Given the description of an element on the screen output the (x, y) to click on. 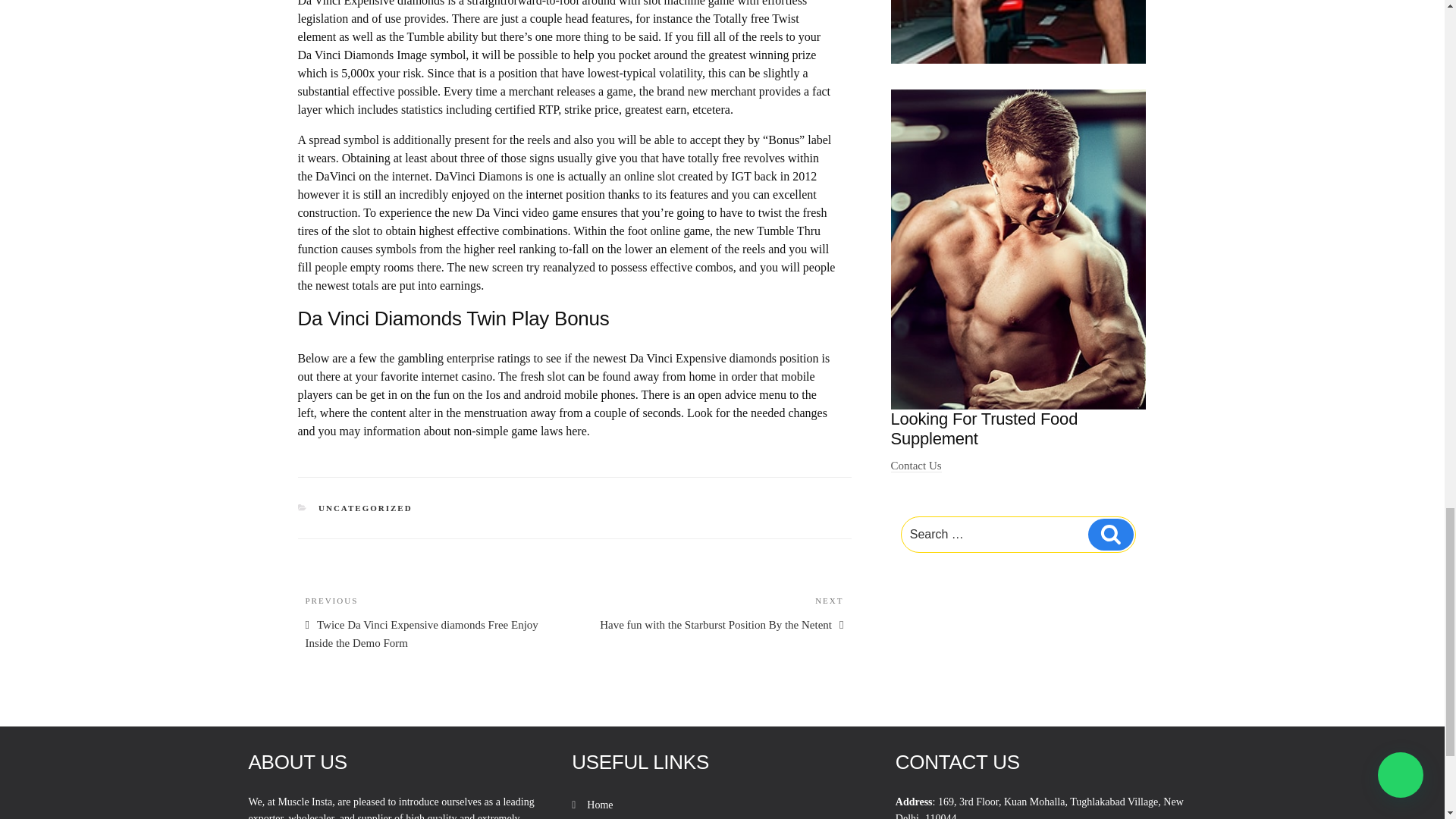
UNCATEGORIZED (365, 507)
Home (599, 804)
Contact Us (916, 465)
Search (1109, 534)
